Given the description of an element on the screen output the (x, y) to click on. 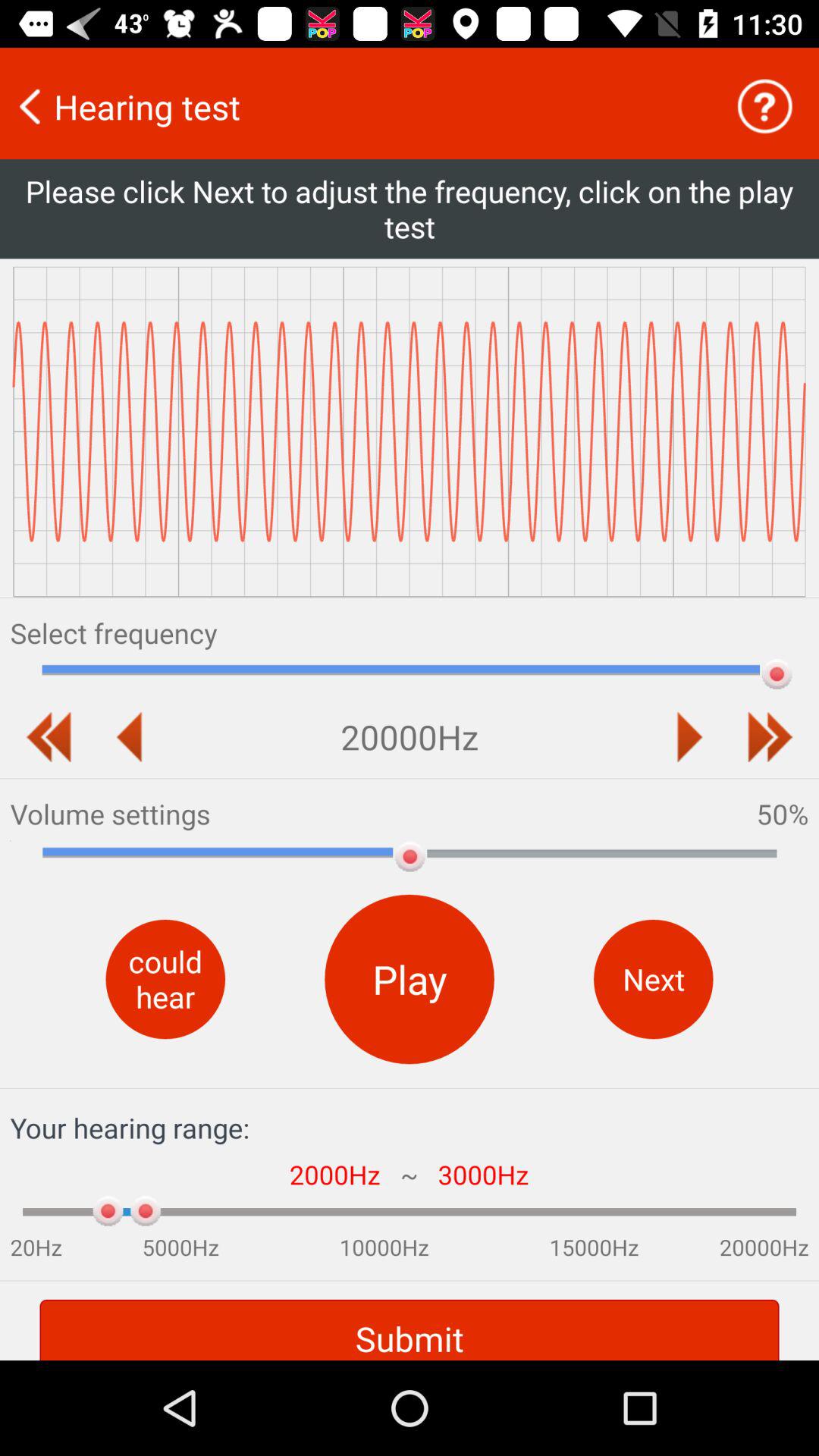
rewind at a faster speed (48, 737)
